Given the description of an element on the screen output the (x, y) to click on. 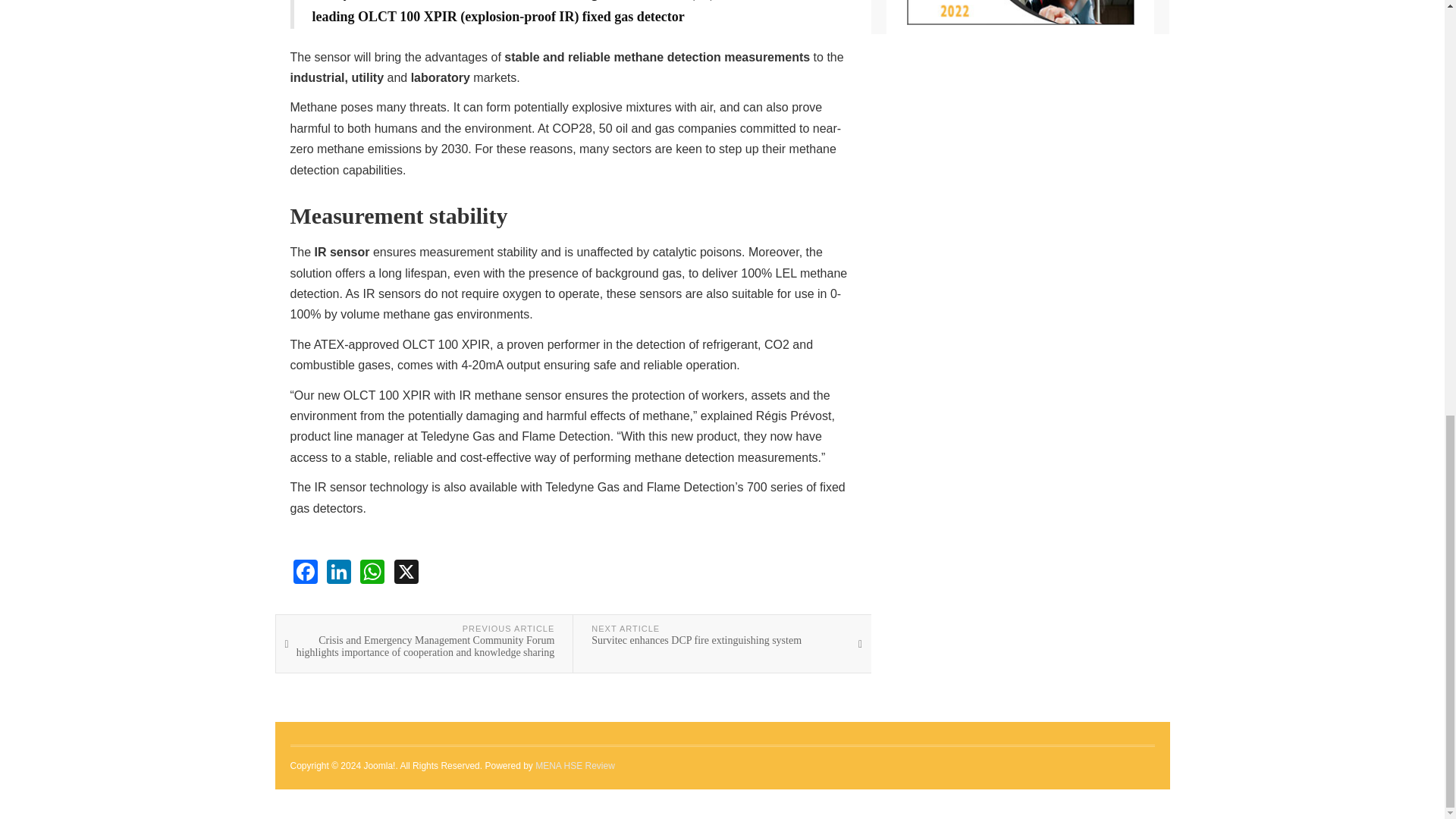
MENA HSE Review (574, 765)
